Given the description of an element on the screen output the (x, y) to click on. 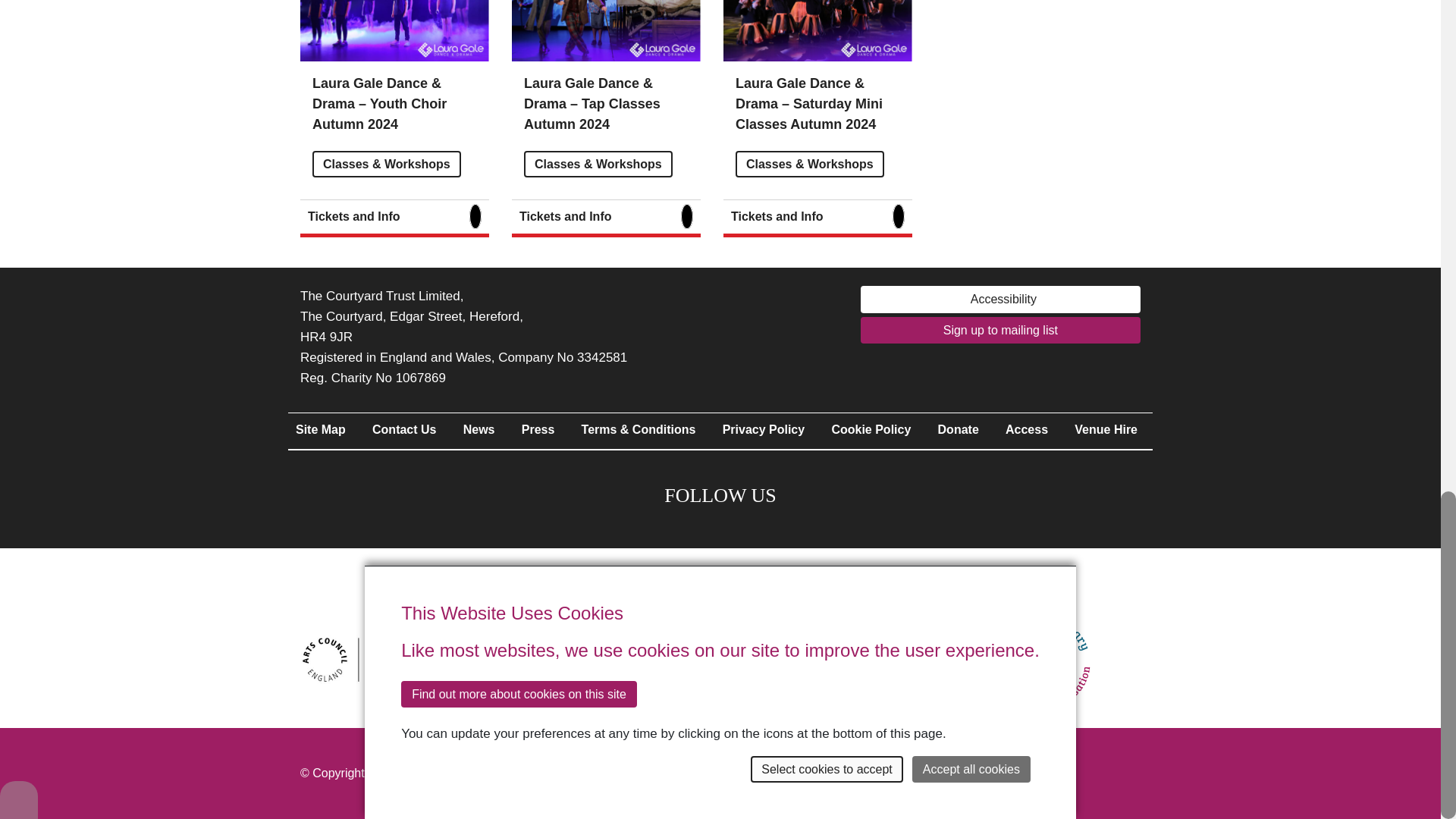
Tickets and Info (394, 218)
